Given the description of an element on the screen output the (x, y) to click on. 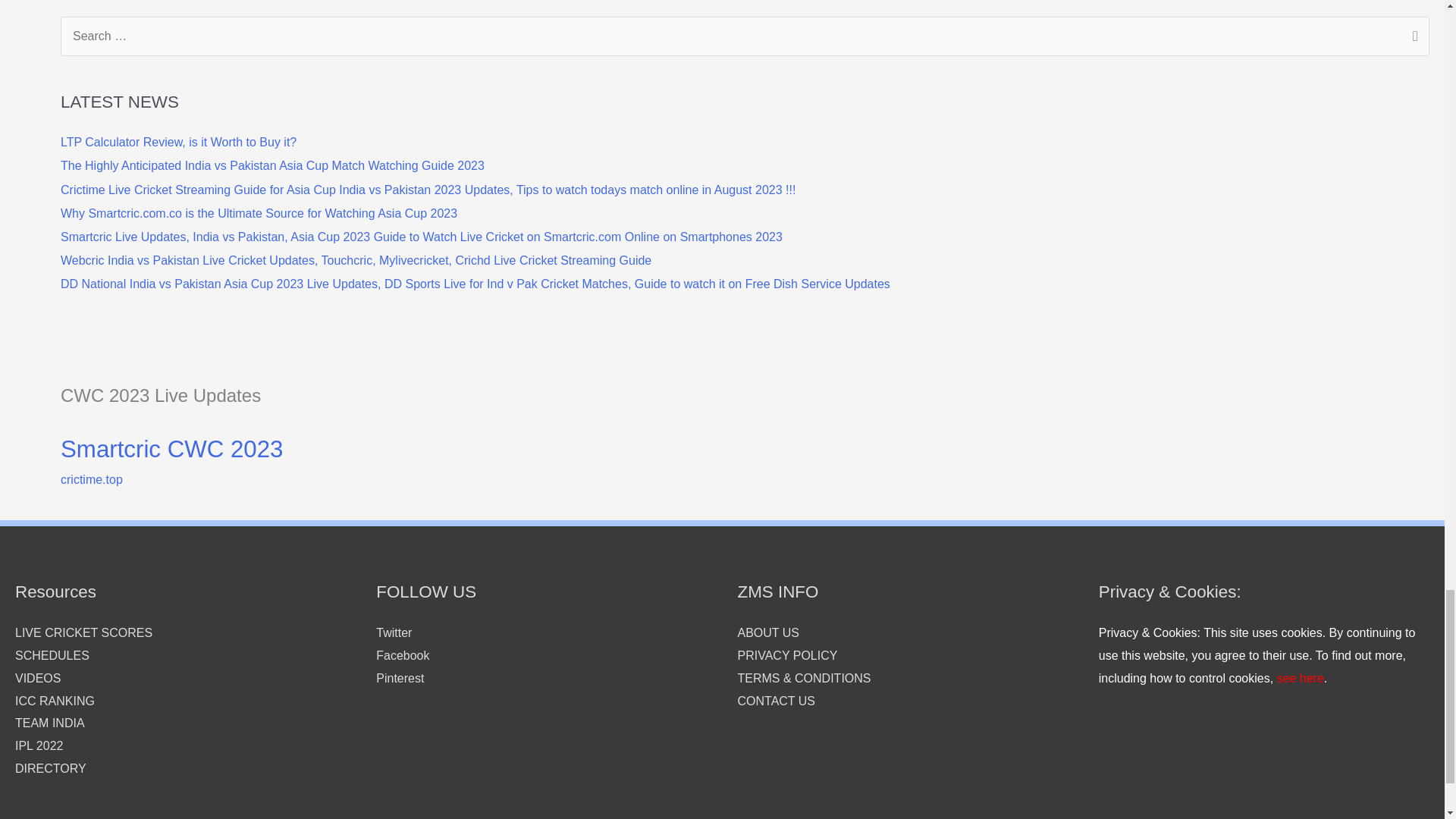
LIVE CRICKET SCORES (83, 632)
crictime.top (91, 479)
LTP Calculator Review, is it Worth to Buy it? (179, 141)
SCHEDULES (51, 655)
Smartcric CWC 2023 (171, 448)
VIDEOS (37, 677)
